Given the description of an element on the screen output the (x, y) to click on. 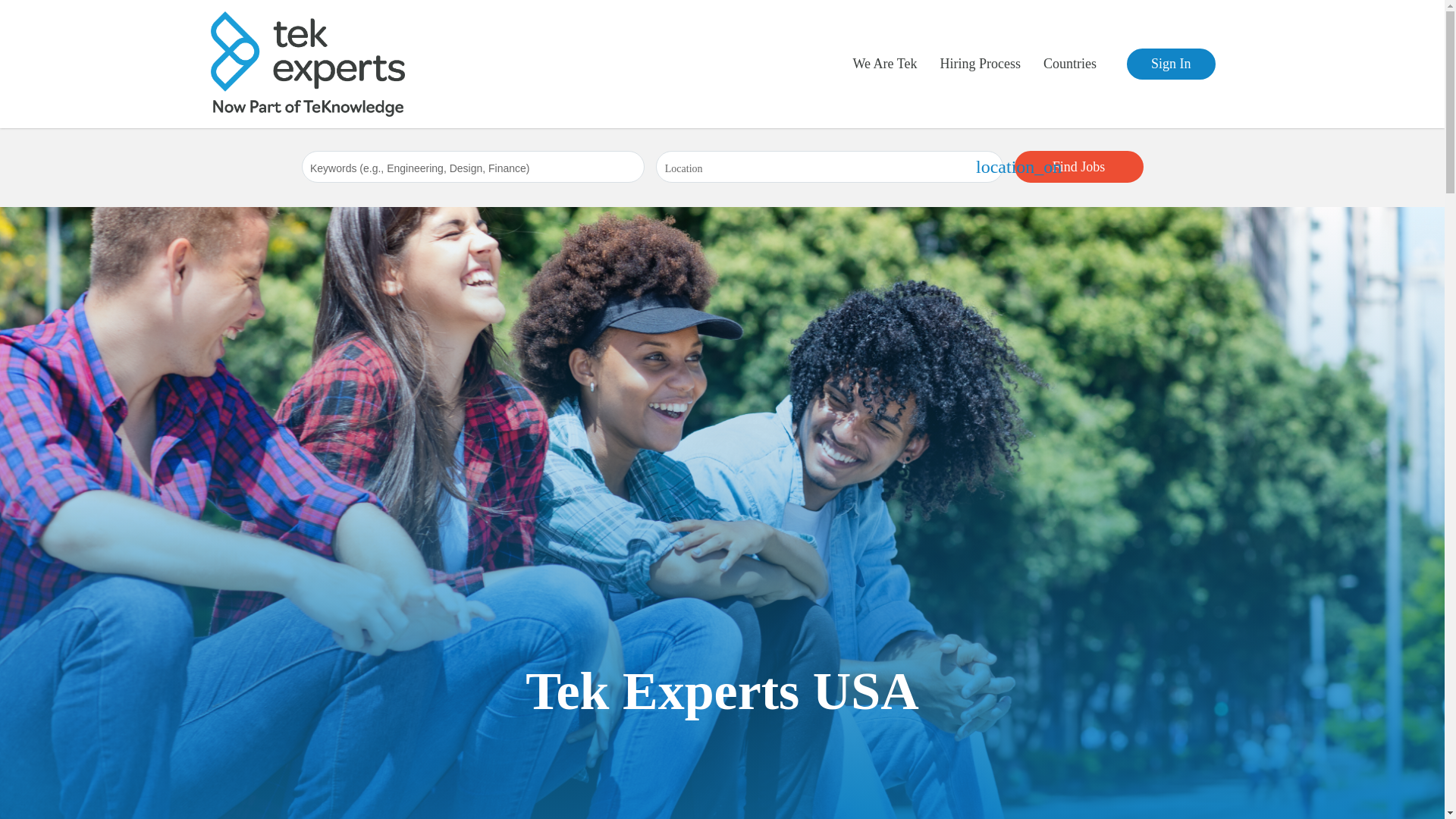
Rwanda (894, 141)
Hiring Process (777, 141)
Sign In (1170, 63)
United States (773, 141)
Vietnam (1123, 141)
Find Jobs (1078, 166)
Benefits (866, 141)
Advice from Our Recruiters (1047, 151)
China (888, 141)
Nigeria (1000, 141)
